Given the description of an element on the screen output the (x, y) to click on. 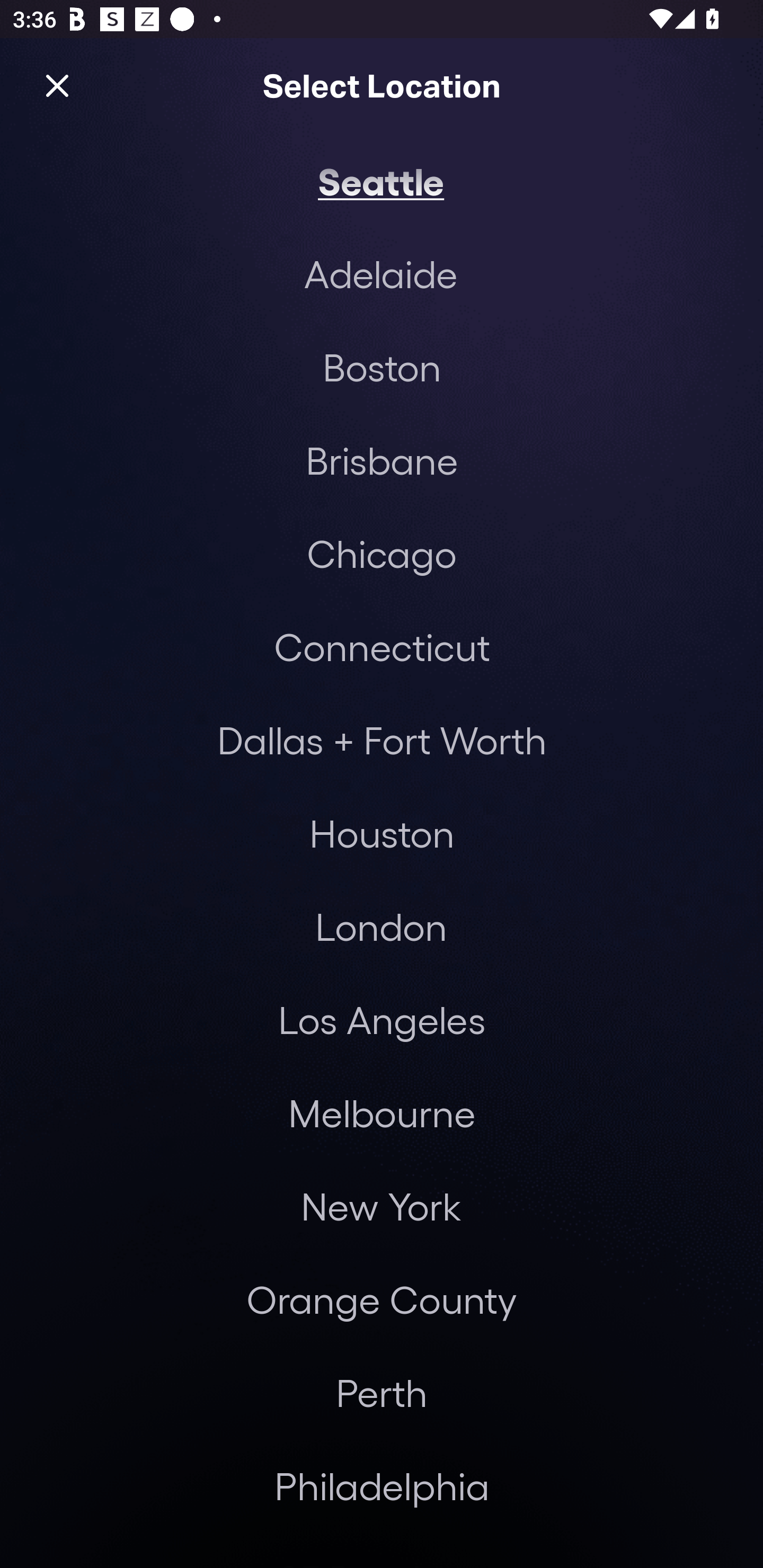
Close (57, 85)
Seattle (381, 180)
Adelaide (380, 273)
Boston (381, 366)
Brisbane (381, 459)
Chicago (381, 553)
Connecticut (381, 646)
Dallas + Fort Worth (381, 740)
Houston (381, 833)
London (380, 926)
Los Angeles (381, 1019)
Melbourne (381, 1113)
New York (380, 1206)
Orange County (381, 1298)
Perth (381, 1392)
Philadelphia (381, 1485)
